Given the description of an element on the screen output the (x, y) to click on. 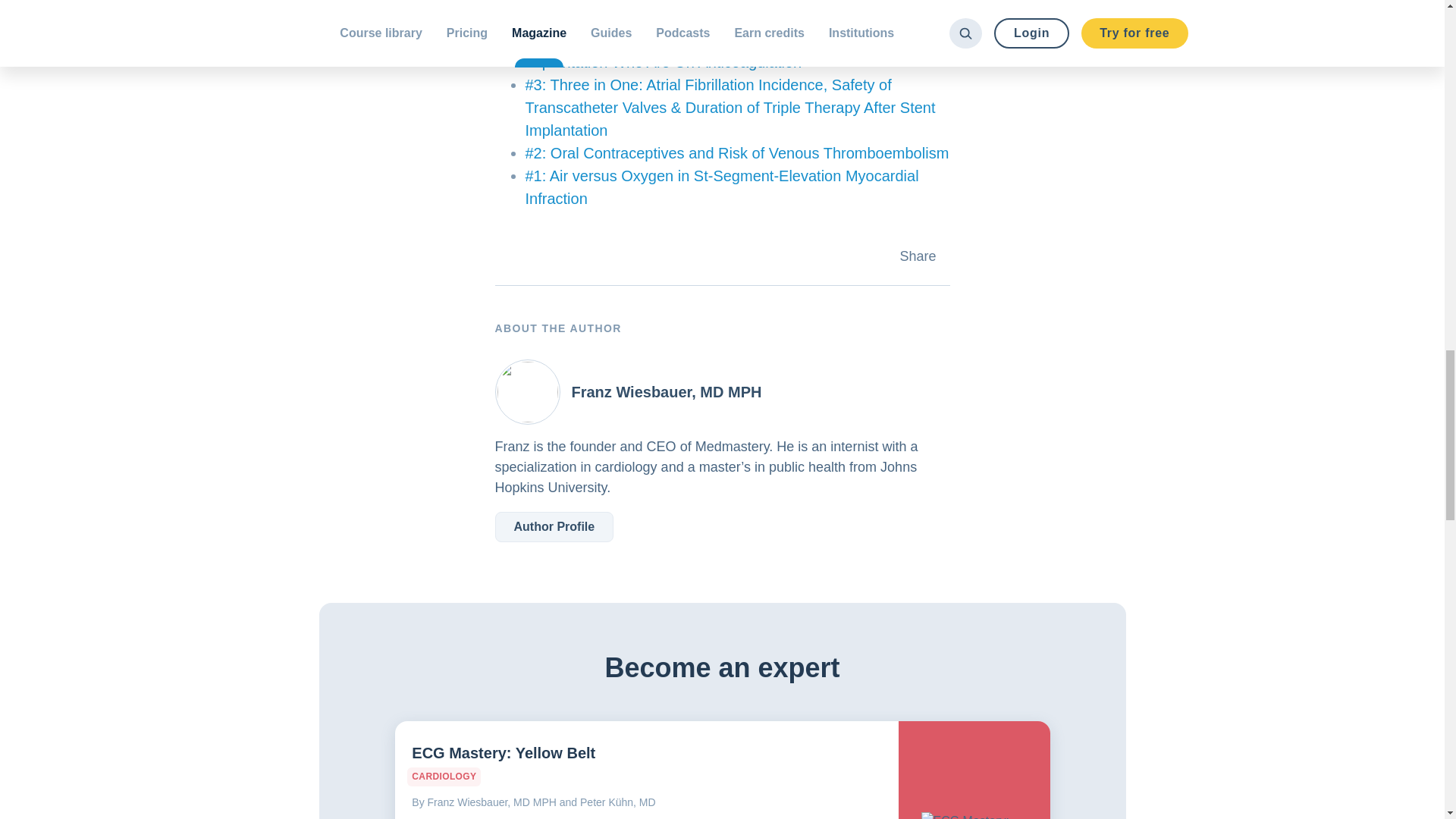
speciality (443, 776)
Author Profile (553, 526)
